Given the description of an element on the screen output the (x, y) to click on. 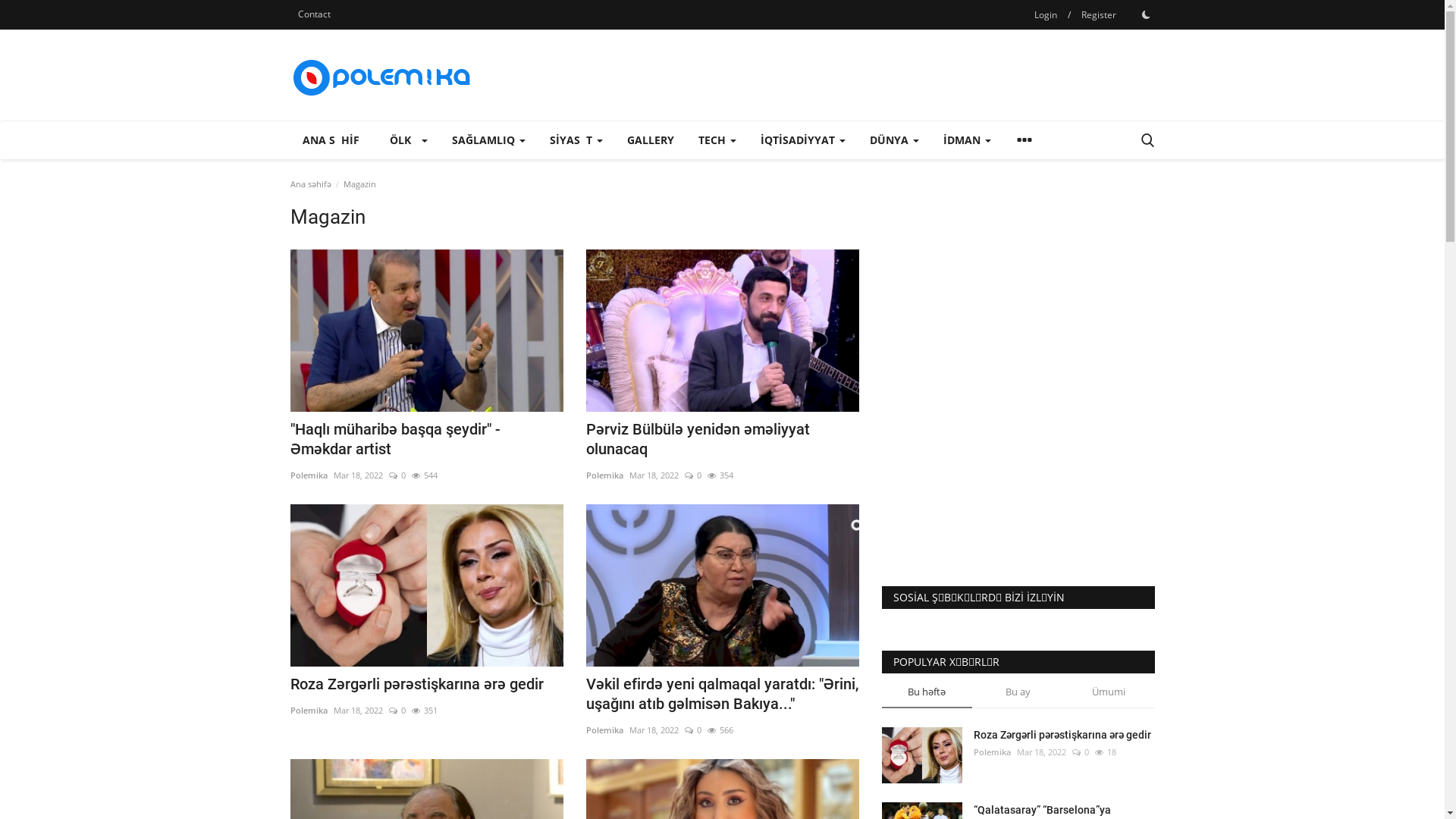
Polemika Element type: text (603, 730)
Polemika Element type: text (307, 710)
Polemika Element type: text (991, 752)
Bu ay Element type: text (1017, 695)
TECH Element type: text (716, 140)
Login Element type: text (1045, 14)
1 Element type: text (1145, 14)
Contact Element type: text (313, 14)
GALLERY Element type: text (649, 140)
Register Element type: text (1098, 14)
Polemika Element type: text (603, 475)
Polemika Element type: text (307, 475)
